Given the description of an element on the screen output the (x, y) to click on. 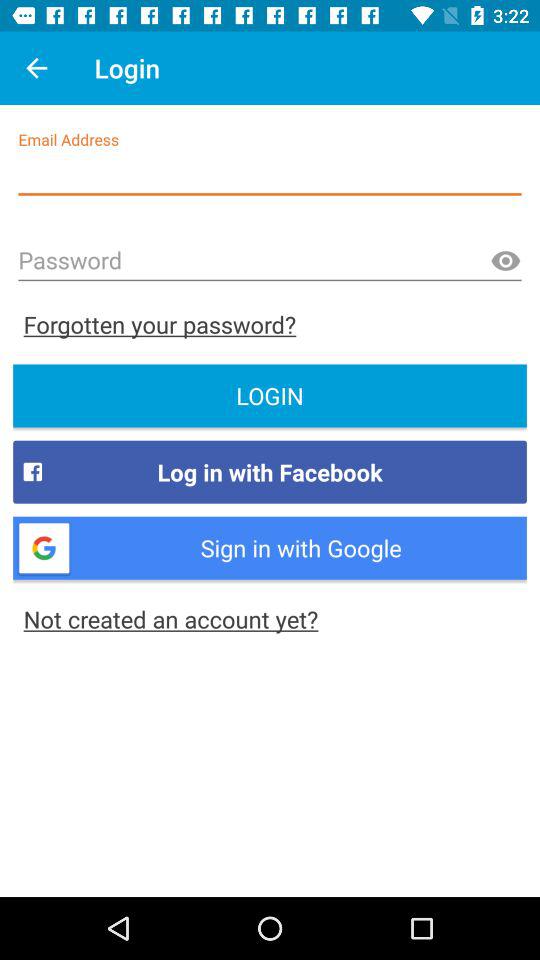
select the version (505, 261)
